Given the description of an element on the screen output the (x, y) to click on. 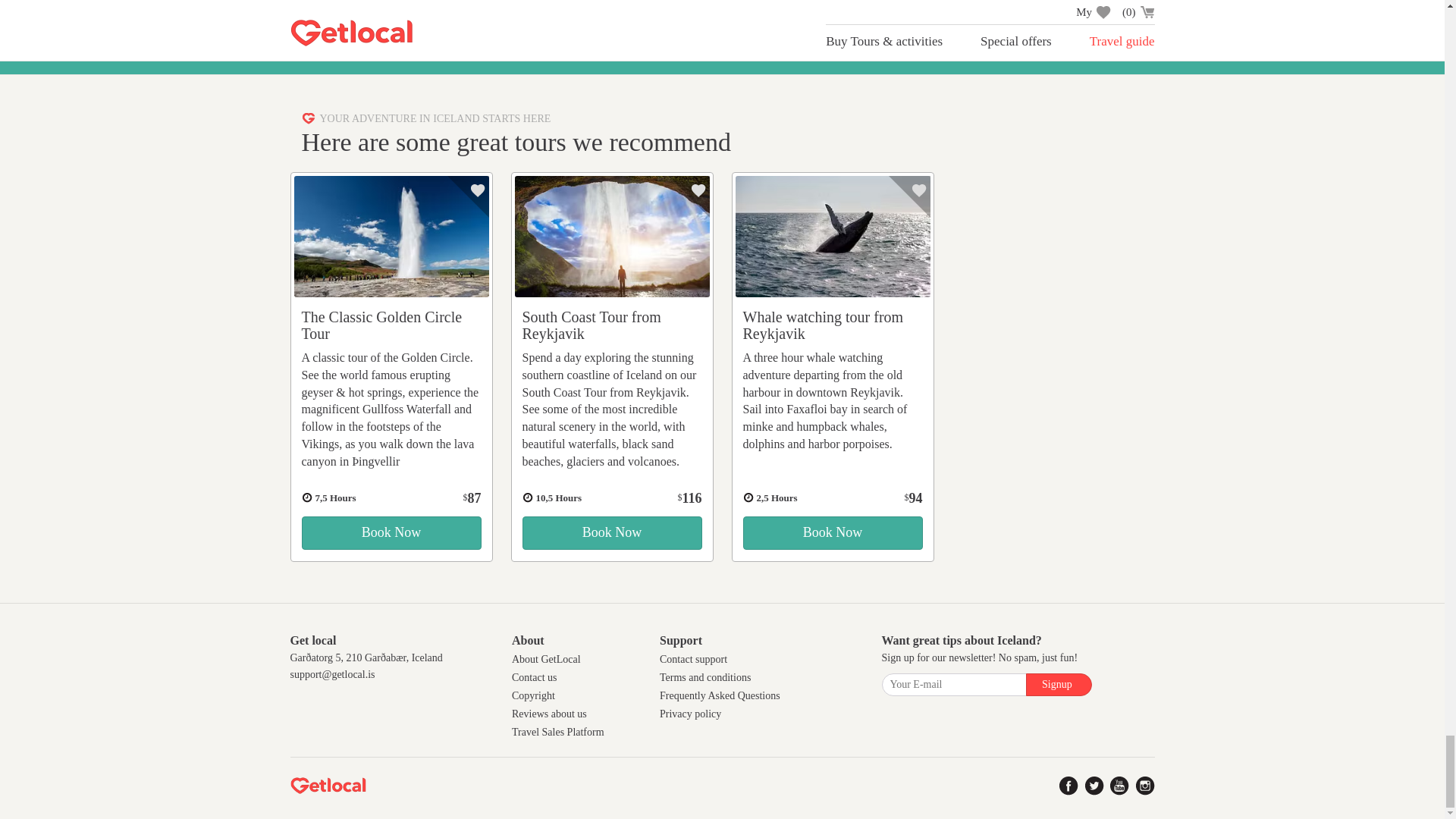
South Coast Tour from Reykjavik (591, 325)
South Coast Tour from Reykjavik (611, 236)
Whale watching tour from Reykjavik (832, 236)
South Coast Tour from Reykjavik (611, 532)
The Classic Golden Circle Tour (391, 532)
The Classic Golden Circle Tour (391, 236)
Whale watching tour from Reykjavik (823, 325)
The Classic Golden Circle Tour (382, 325)
Signup (1059, 684)
